Given the description of an element on the screen output the (x, y) to click on. 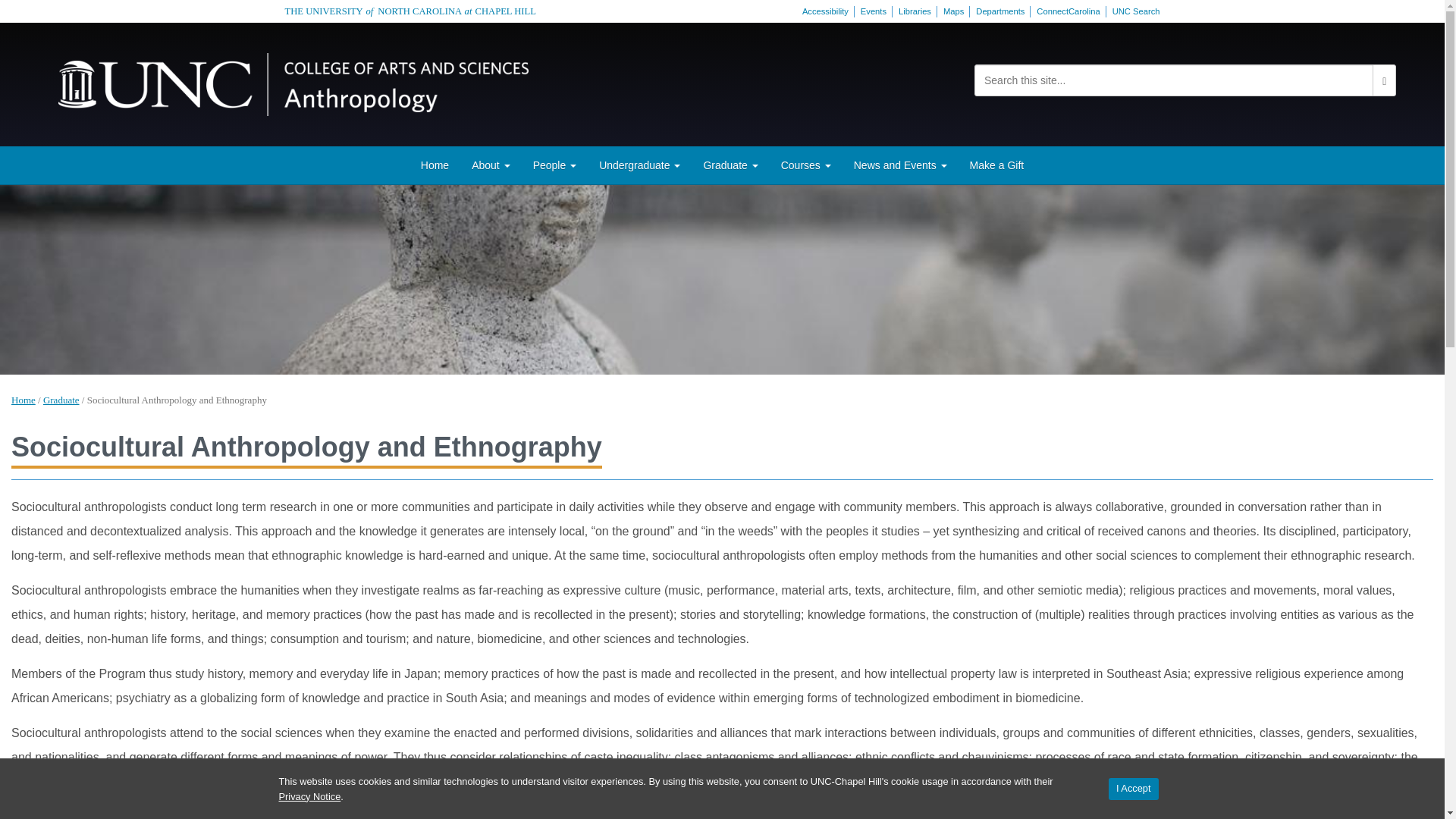
I Accept (1133, 789)
ConnectCarolina (1067, 11)
People (554, 165)
Privacy Notice (309, 796)
THE UNIVERSITY of NORTH CAROLINA at CHAPEL HILL (410, 11)
Libraries (914, 11)
About (490, 165)
Anthropology (293, 82)
Graduate (729, 165)
Accessibility (825, 11)
Undergraduate (639, 165)
Courses (806, 165)
Maps (953, 11)
UNC Search (1136, 11)
